Given the description of an element on the screen output the (x, y) to click on. 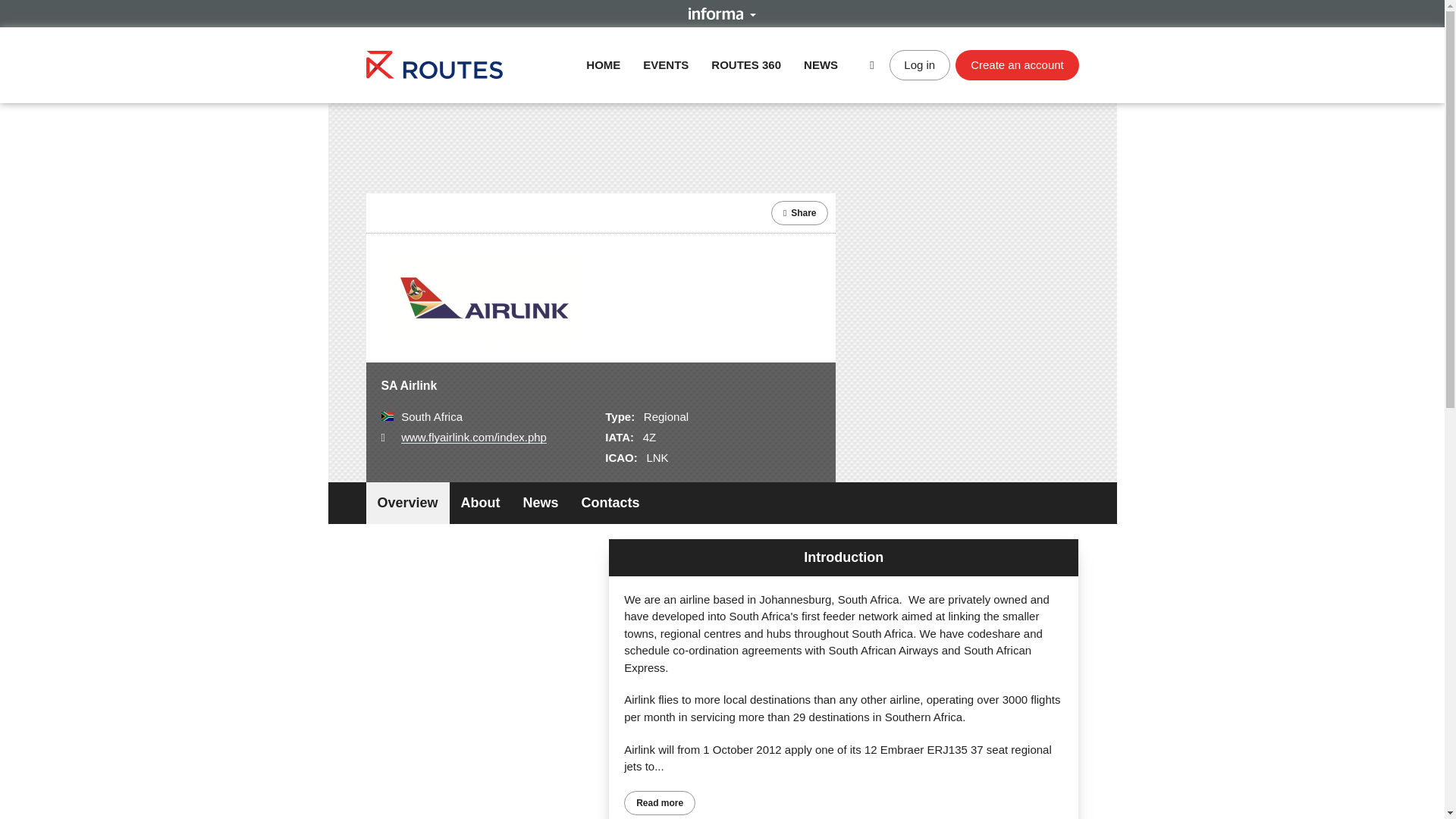
Log in (919, 64)
ROUTES 360 (745, 64)
NEWS (820, 64)
Create an account (1016, 64)
HOME (603, 64)
Routes (433, 64)
EVENTS (665, 64)
